Given the description of an element on the screen output the (x, y) to click on. 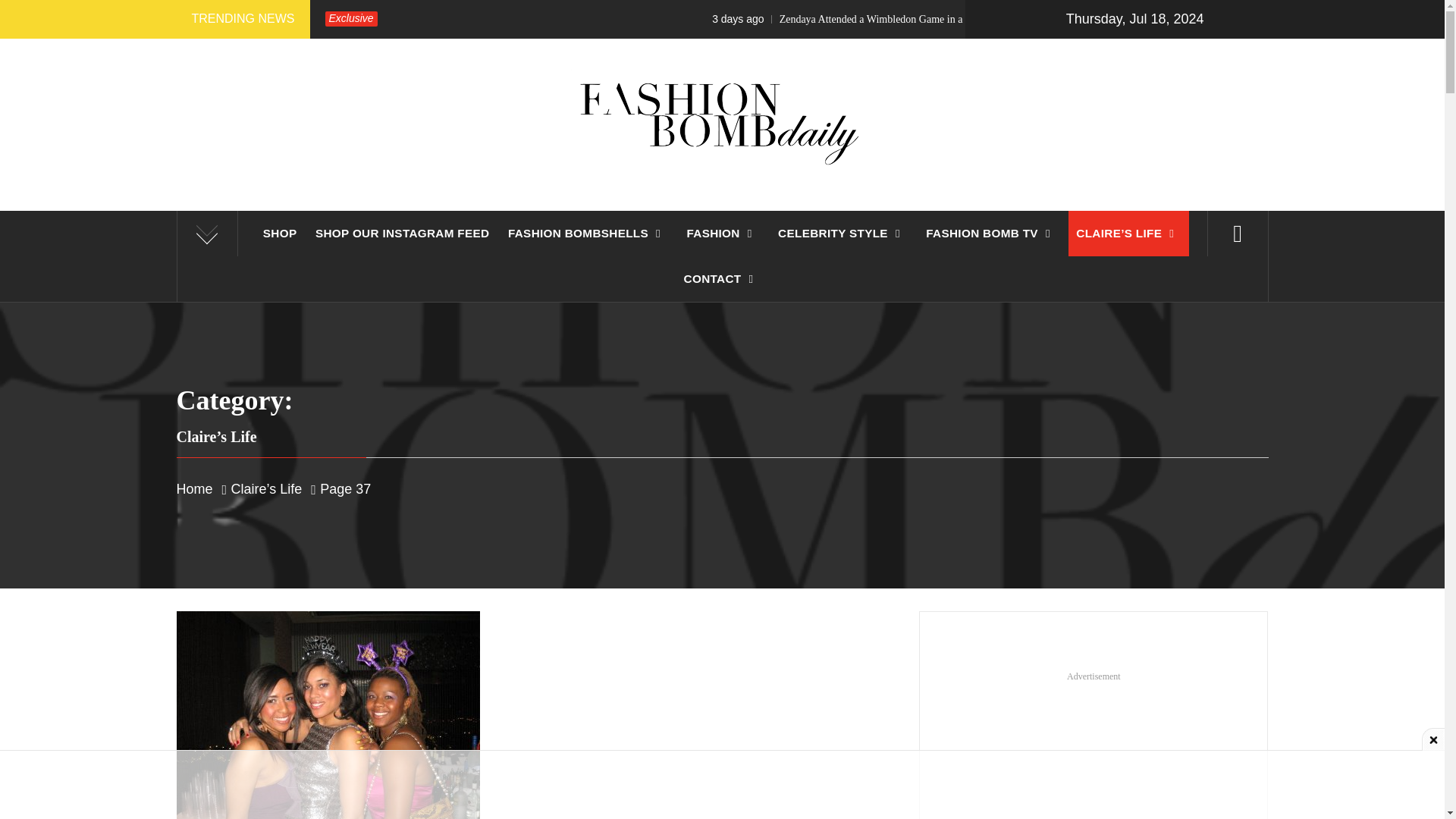
3rd party ad content (1093, 750)
FASHION BOMBSHELLS (587, 233)
SHOP OUR INSTAGRAM FEED (401, 233)
FASHION (722, 233)
3rd party ad content (721, 785)
FASHION BOMB DAILY (721, 229)
SHOP (280, 233)
